Given the description of an element on the screen output the (x, y) to click on. 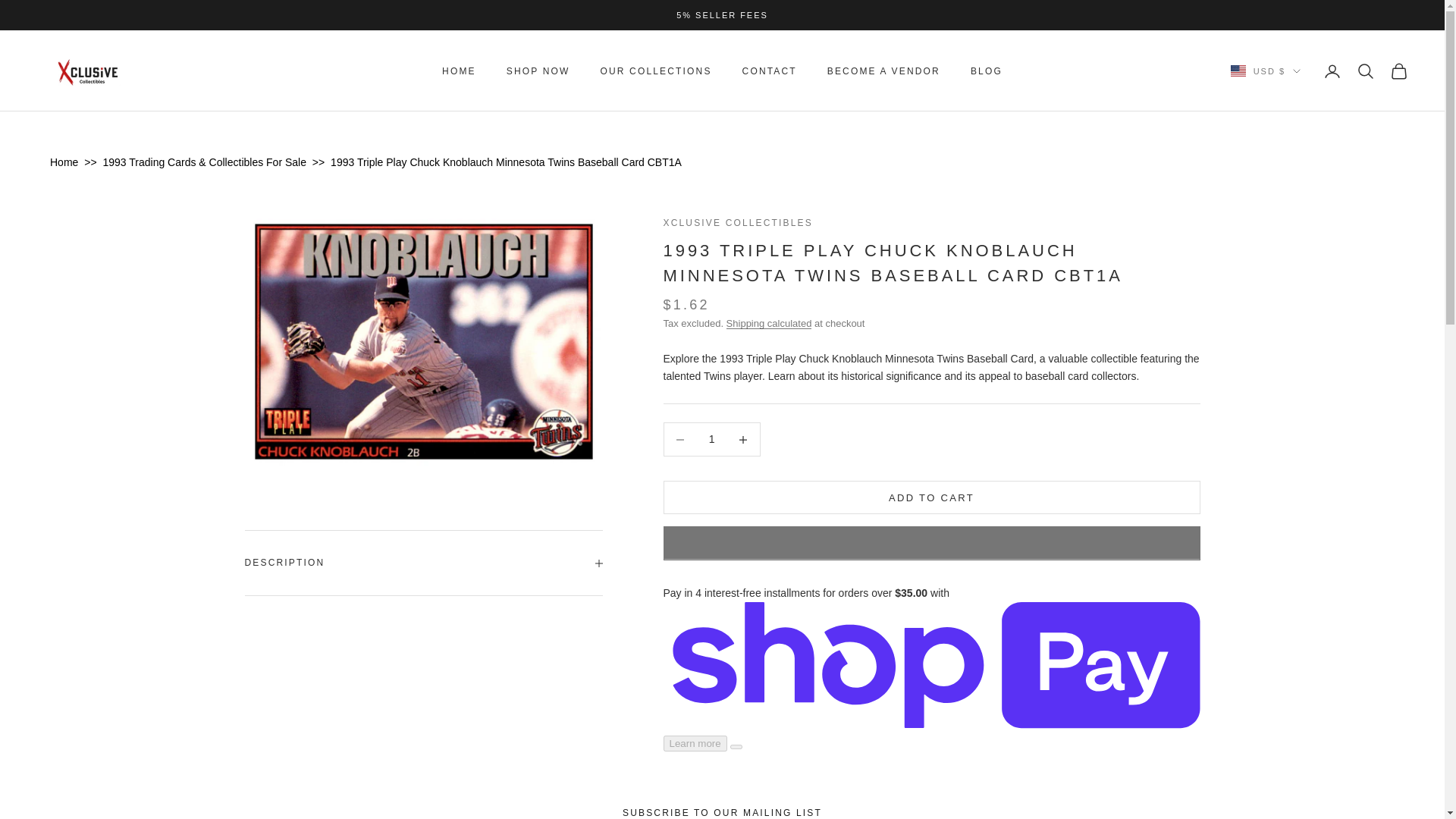
HOME (459, 70)
DESCRIPTION (423, 562)
SHOP NOW (538, 70)
Xclusive Collectibles (89, 70)
1 (711, 439)
